Given the description of an element on the screen output the (x, y) to click on. 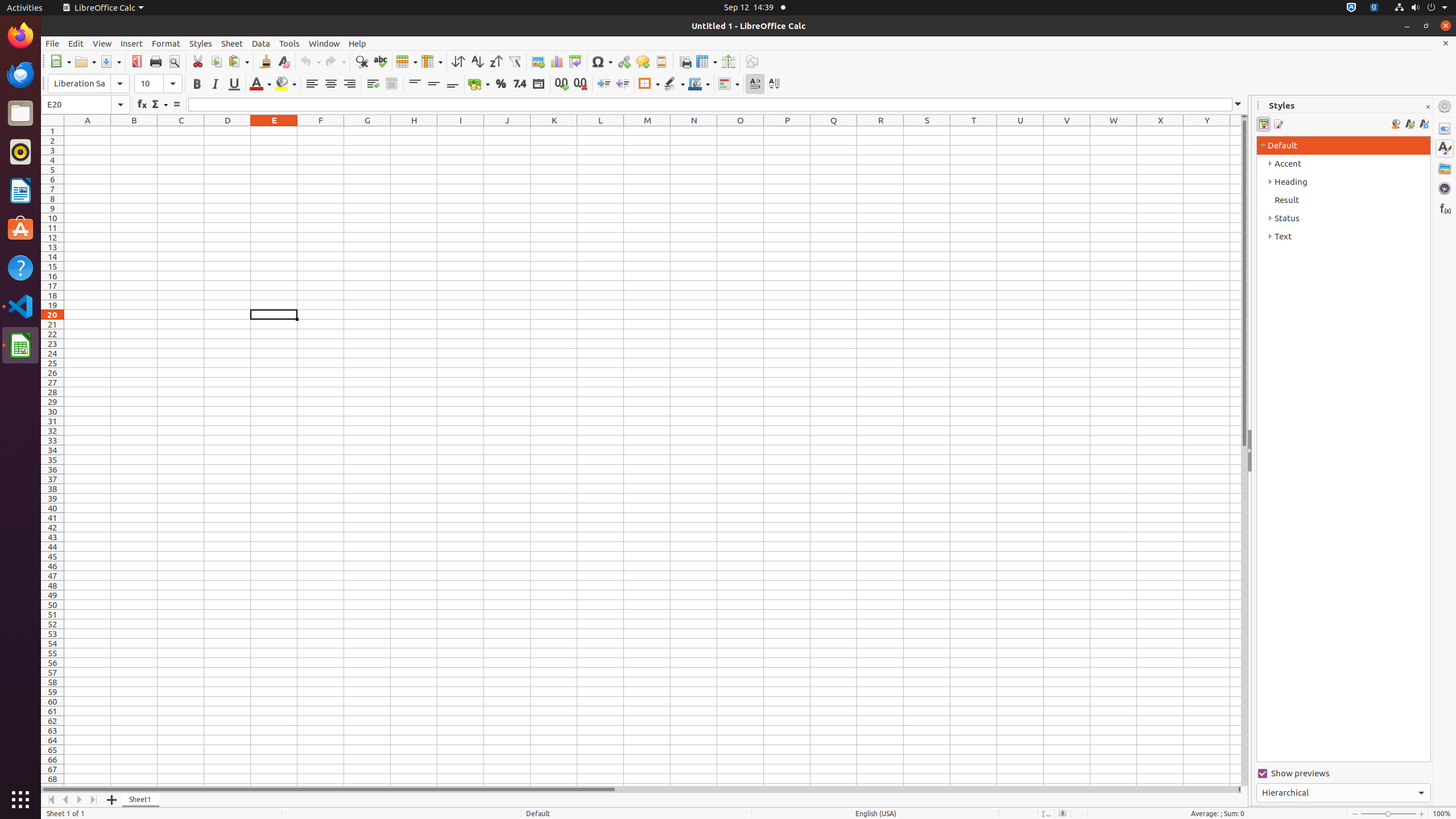
Merge and Center Cells Element type: push-button (391, 83)
Font Color Element type: push-button (260, 83)
Edit Element type: menu (75, 43)
Window Element type: menu (324, 43)
Date Element type: push-button (537, 83)
